Given the description of an element on the screen output the (x, y) to click on. 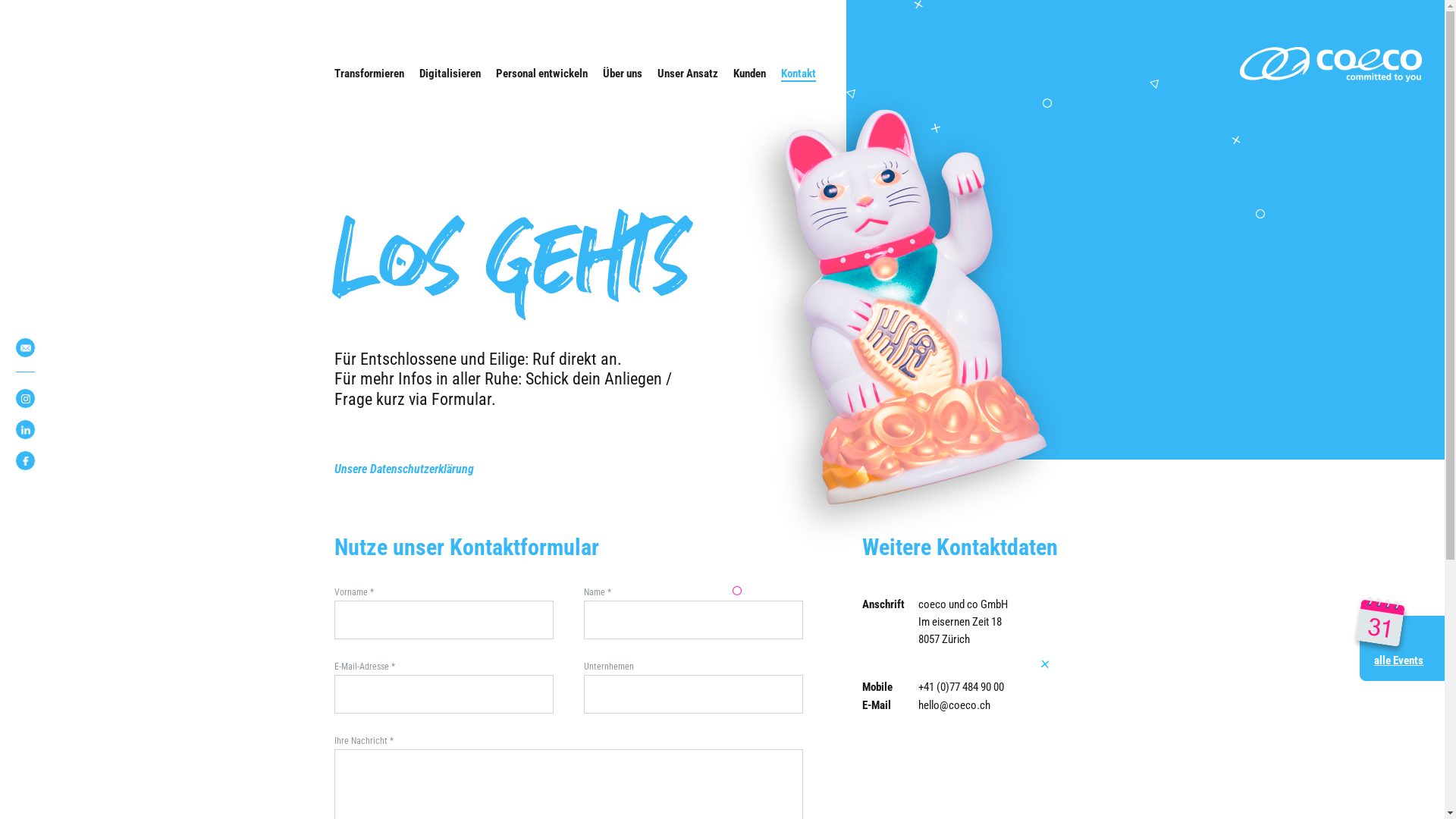
Unser Ansatz Element type: text (686, 73)
+41 (0)77 484 90 00 Element type: text (960, 686)
Digitalisieren Element type: text (449, 73)
Personal entwickeln Element type: text (541, 73)
hello@coeco.ch Element type: text (953, 705)
Kunden Element type: text (748, 73)
Transformieren Element type: text (368, 73)
Kontakt Element type: text (798, 73)
alle Events Element type: text (1401, 647)
